Given the description of an element on the screen output the (x, y) to click on. 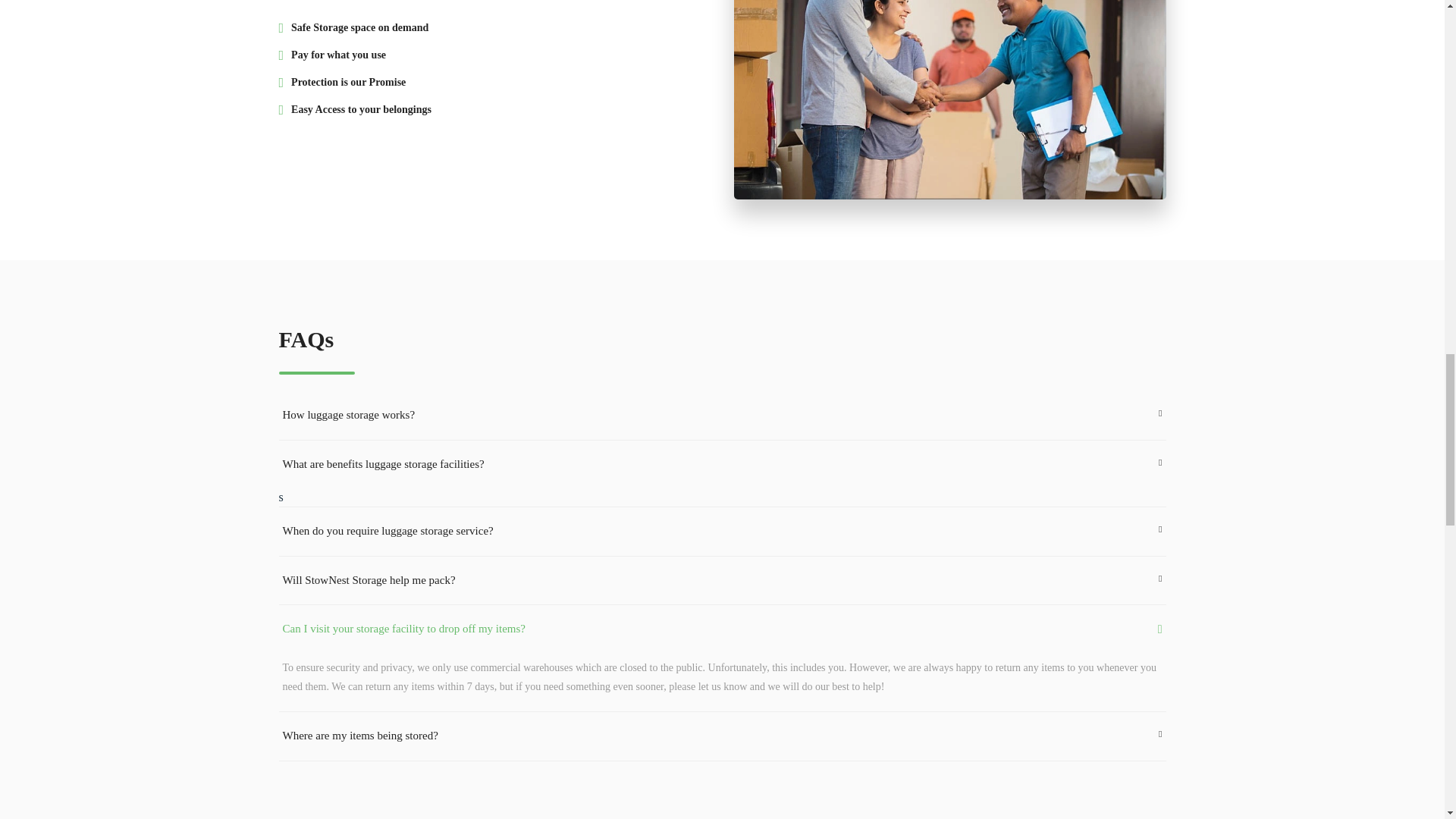
When do you require luggage storage service? (721, 531)
Where are my items being stored? (721, 735)
Will StowNest Storage help me pack? (721, 580)
Can I visit your storage facility to drop off my items? (721, 629)
How luggage storage works? (721, 415)
What are benefits luggage storage facilities? (721, 464)
